Given the description of an element on the screen output the (x, y) to click on. 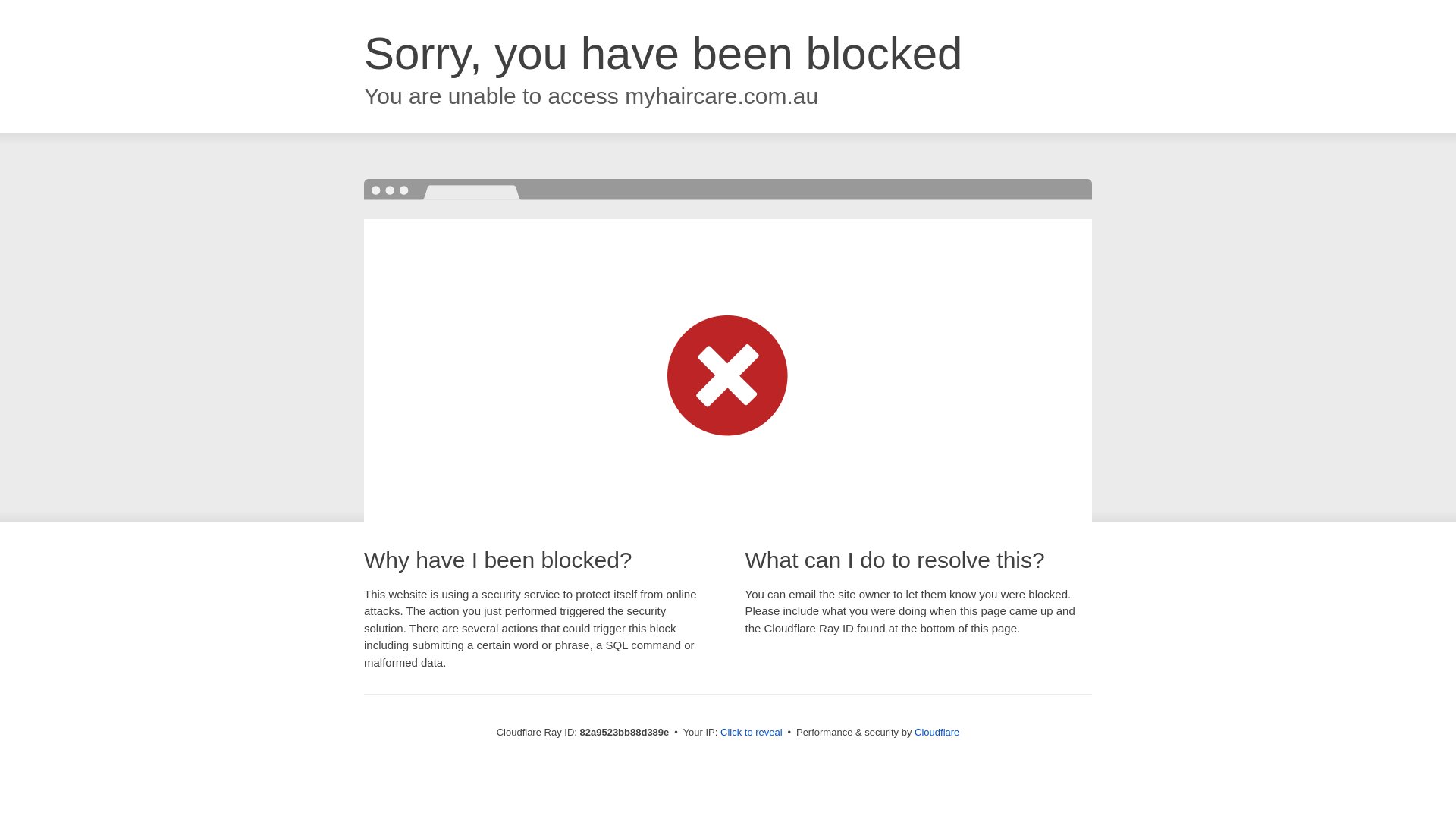
Cloudflare Element type: text (936, 731)
Click to reveal Element type: text (751, 732)
